Given the description of an element on the screen output the (x, y) to click on. 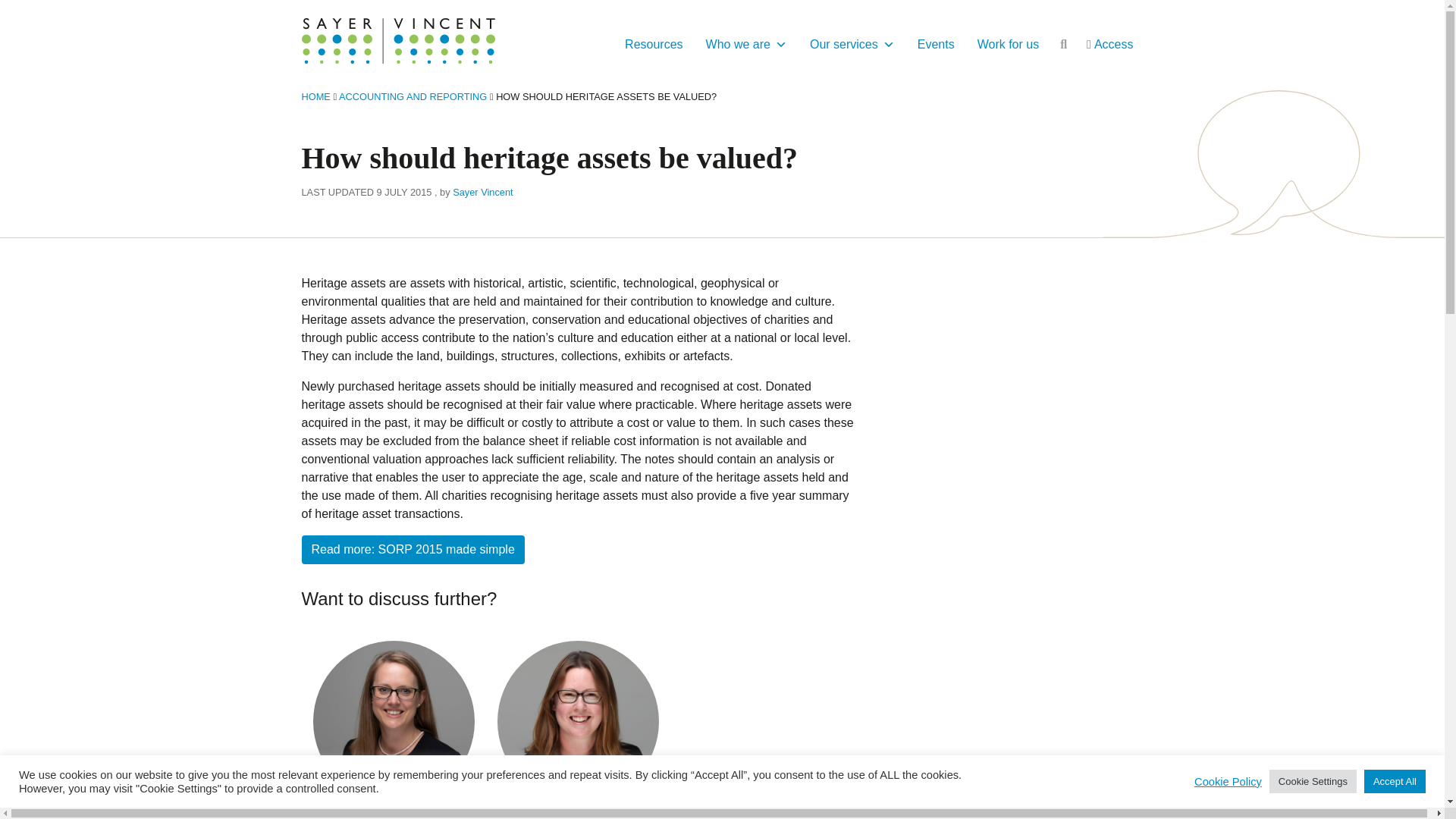
Sayer Vincent (482, 192)
Our services (851, 44)
Resources (653, 44)
HOME (315, 96)
Events (935, 44)
ACCOUNTING AND REPORTING (412, 96)
Who we are (745, 44)
Work for us (1008, 44)
Access (1109, 44)
Read more: SORP 2015 made simple (412, 549)
